Given the description of an element on the screen output the (x, y) to click on. 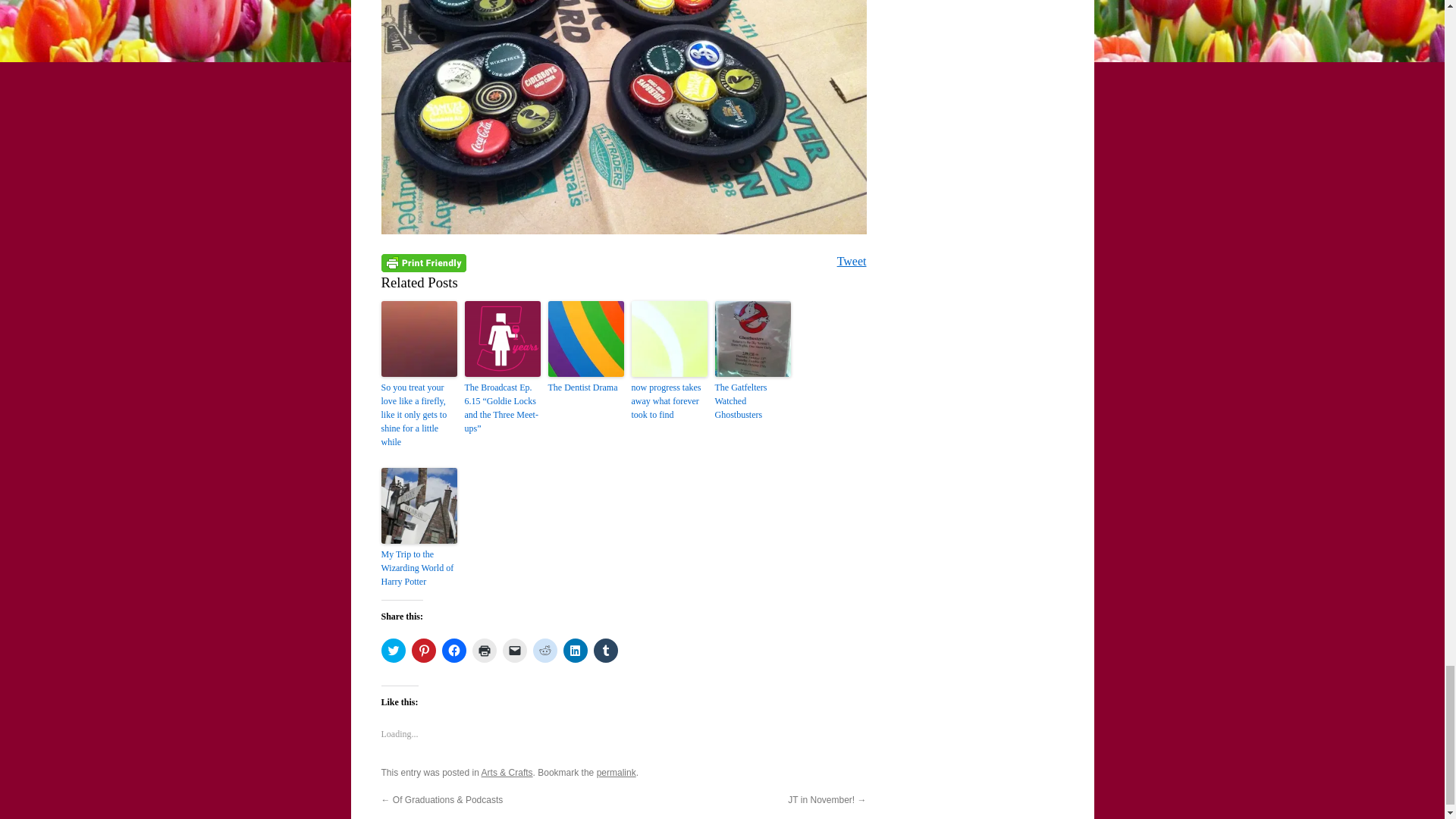
now progress takes away what forever took to find (668, 400)
Click to share on Twitter (392, 650)
Click to share on Tumblr (604, 650)
Click to share on Facebook (453, 650)
Click to share on Reddit (544, 650)
Click to share on LinkedIn (574, 650)
My Trip to the Wizarding World of Harry Potter (418, 567)
The Dentist Drama (585, 386)
Click to share on Pinterest (422, 650)
Click to print (483, 650)
